Given the description of an element on the screen output the (x, y) to click on. 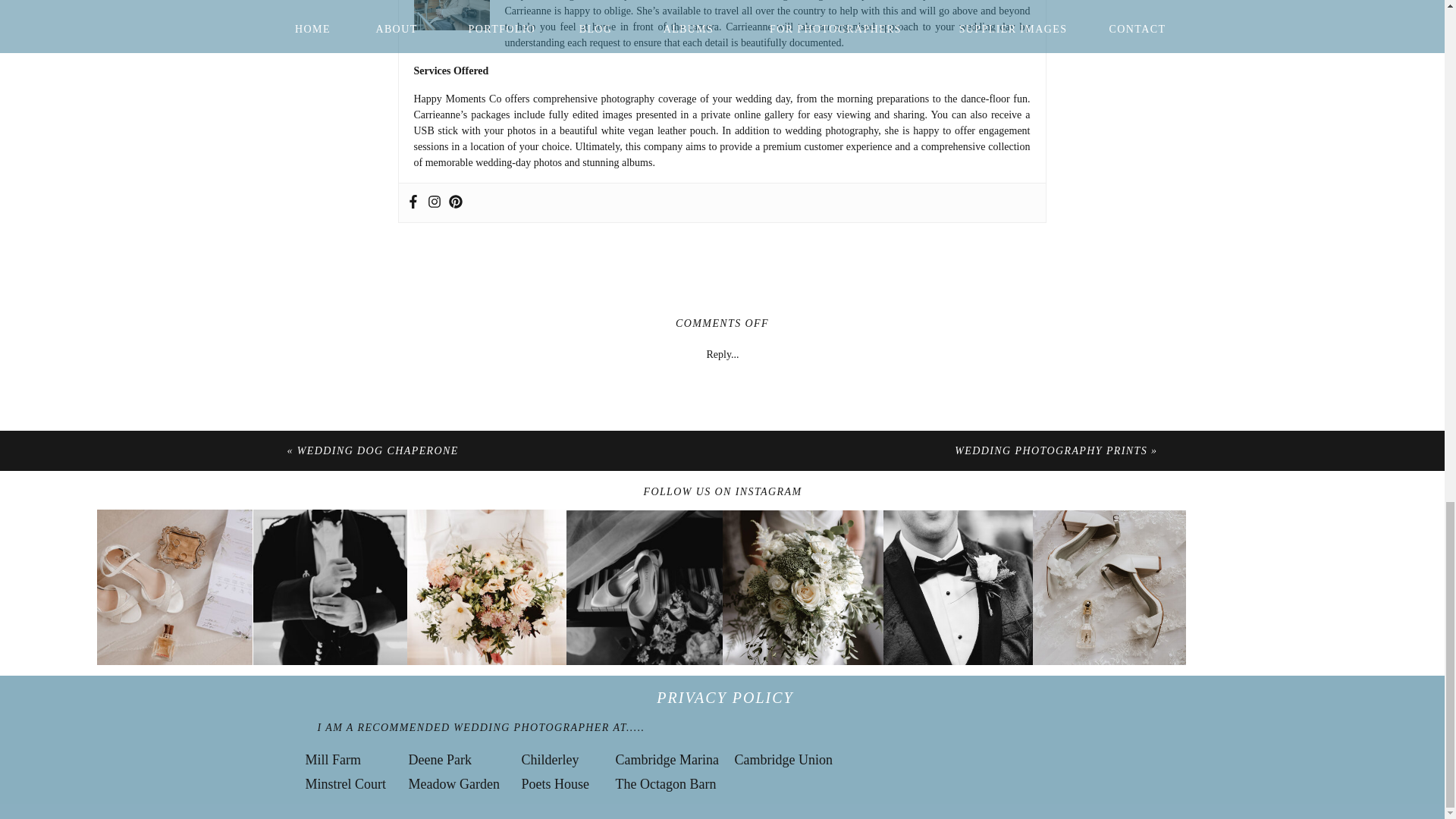
WEDDING PHOTOGRAPHY PRINTS (1051, 450)
PRIVACY POLICY (725, 694)
WEDDING DOG CHAPERONE (377, 450)
FOLLOW US ON INSTAGRAM (722, 489)
